Given the description of an element on the screen output the (x, y) to click on. 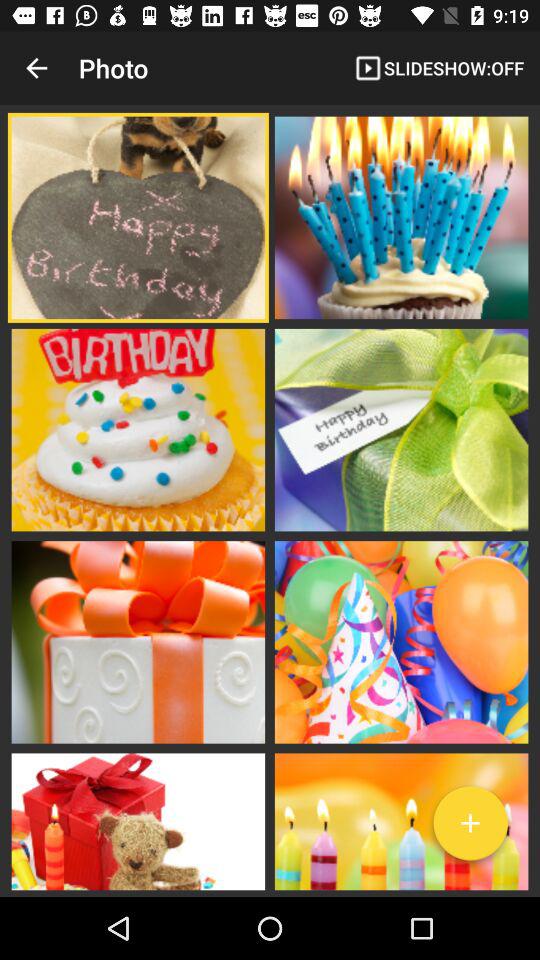
select the third row second image (401, 641)
select the third image of first column (138, 641)
select the last option from bottom left (138, 819)
second image in first row of the page (401, 217)
click on the  icon which is on the right corner (469, 827)
